Given the description of an element on the screen output the (x, y) to click on. 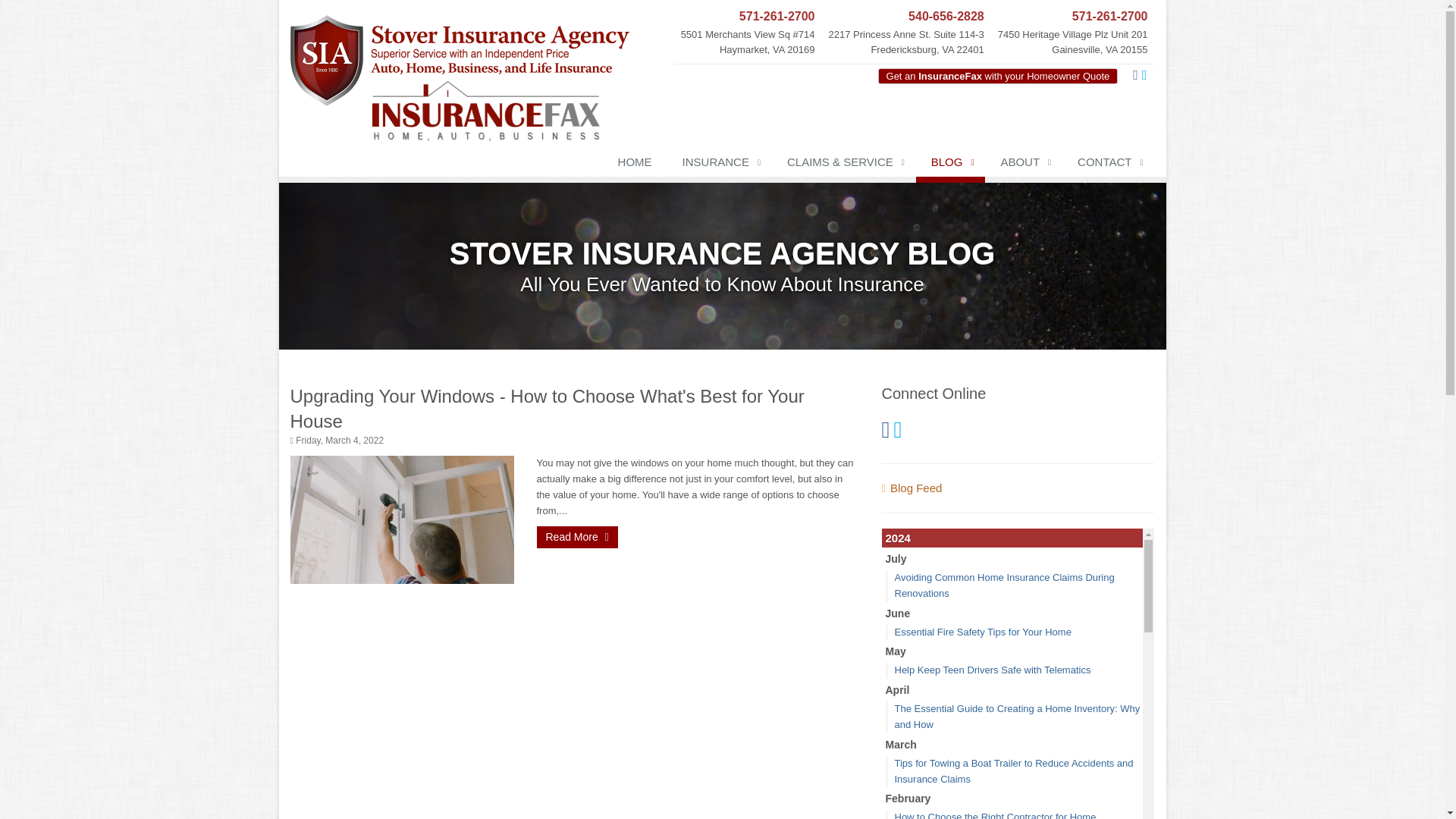
HOME (634, 165)
INSURANCE (718, 165)
571-261-2700 (748, 16)
